Given the description of an element on the screen output the (x, y) to click on. 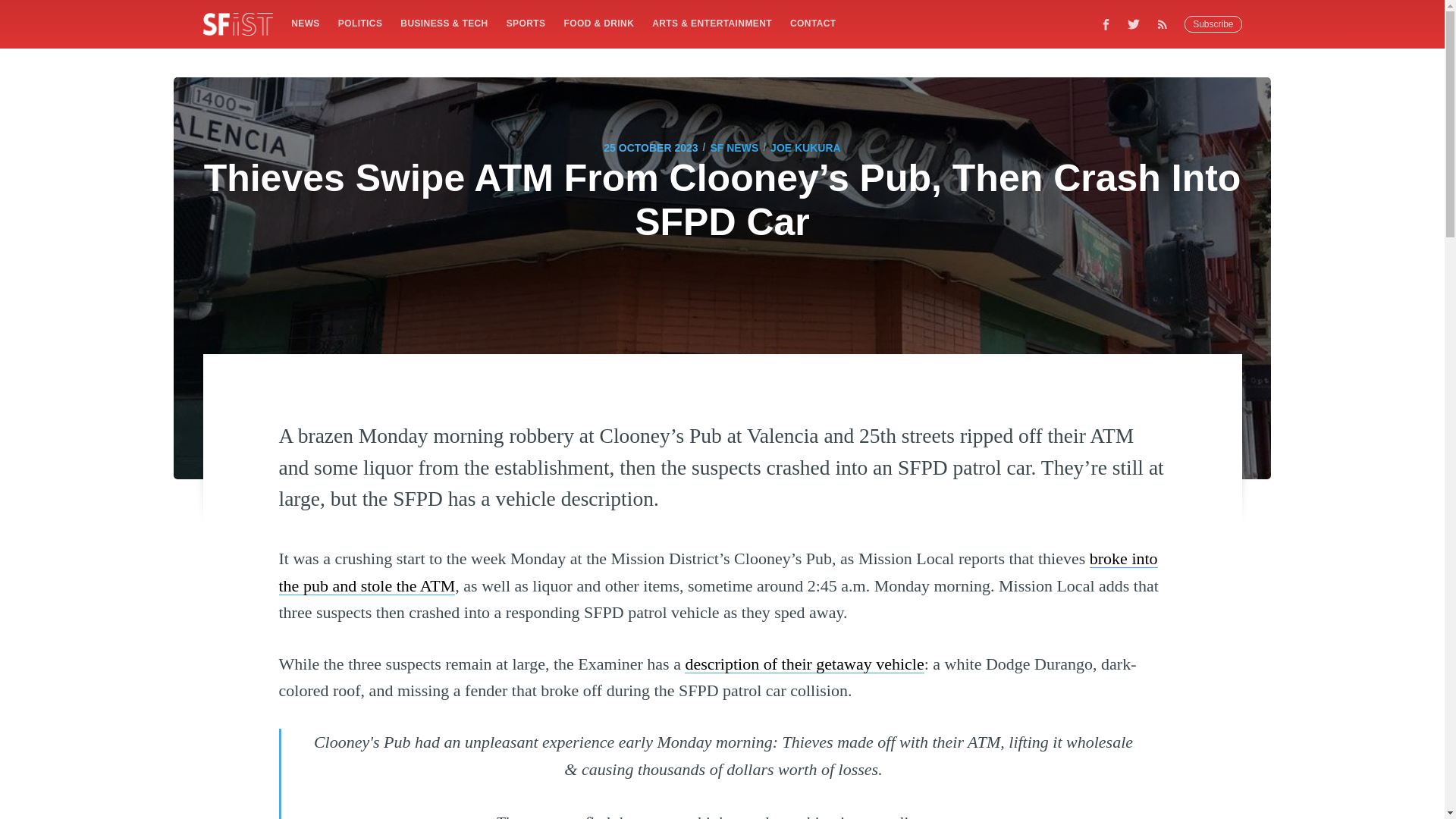
SF NEWS (734, 147)
SPORTS (525, 23)
Twitter (1133, 23)
RSS (1166, 23)
NEWS (305, 23)
Subscribe (1213, 23)
POLITICS (360, 23)
description of their getaway vehicle (803, 663)
JOE KUKURA (805, 147)
Facebook (1106, 23)
